Given the description of an element on the screen output the (x, y) to click on. 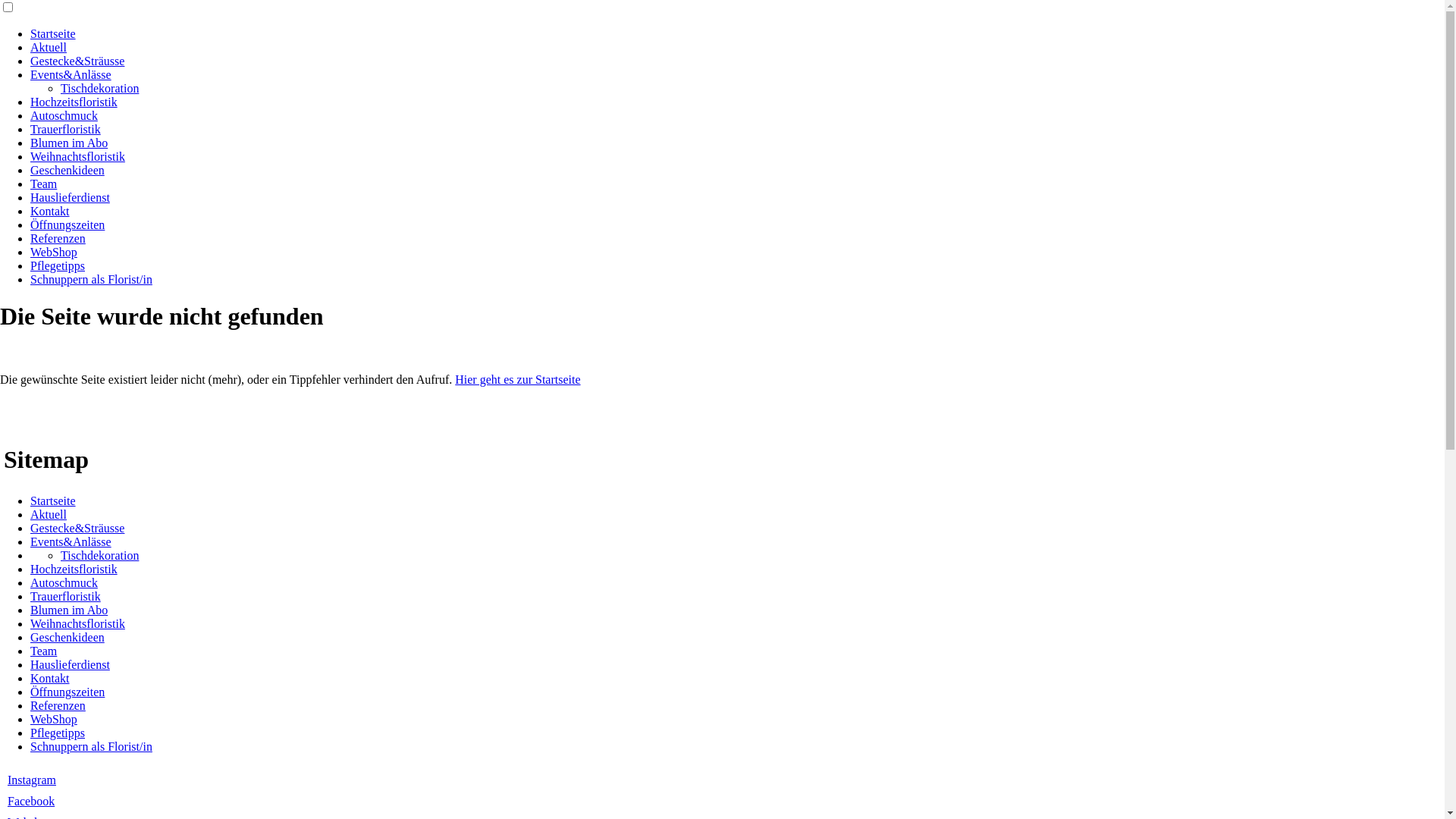
Geschenkideen Element type: text (67, 169)
Autoschmuck Element type: text (63, 582)
Pflegetipps Element type: text (57, 732)
Startseite Element type: text (52, 500)
Tischdekoration Element type: text (99, 87)
Schnuppern als Florist/in Element type: text (91, 279)
Weihnachtsfloristik Element type: text (77, 623)
Trauerfloristik Element type: text (65, 595)
Hauslieferdienst Element type: text (69, 664)
Trauerfloristik Element type: text (65, 128)
Autoschmuck Element type: text (63, 115)
Aktuell Element type: text (48, 514)
Schnuppern als Florist/in Element type: text (91, 746)
Aktuell Element type: text (48, 46)
Hauslieferdienst Element type: text (69, 197)
Tischdekoration Element type: text (99, 555)
Startseite Element type: text (52, 33)
Instagram Element type: text (31, 779)
Hier geht es zur Startseite Element type: text (517, 379)
Kontakt Element type: text (49, 210)
Blumen im Abo Element type: text (68, 609)
Hochzeitsfloristik Element type: text (73, 568)
Hochzeitsfloristik Element type: text (73, 101)
WebShop Element type: text (53, 251)
Weihnachtsfloristik Element type: text (77, 156)
Facebook Element type: text (30, 800)
Kontakt Element type: text (49, 677)
Team Element type: text (43, 650)
Blumen im Abo Element type: text (68, 142)
Team Element type: text (43, 183)
Referenzen Element type: text (57, 705)
Pflegetipps Element type: text (57, 265)
Referenzen Element type: text (57, 238)
Geschenkideen Element type: text (67, 636)
WebShop Element type: text (53, 718)
